Given the description of an element on the screen output the (x, y) to click on. 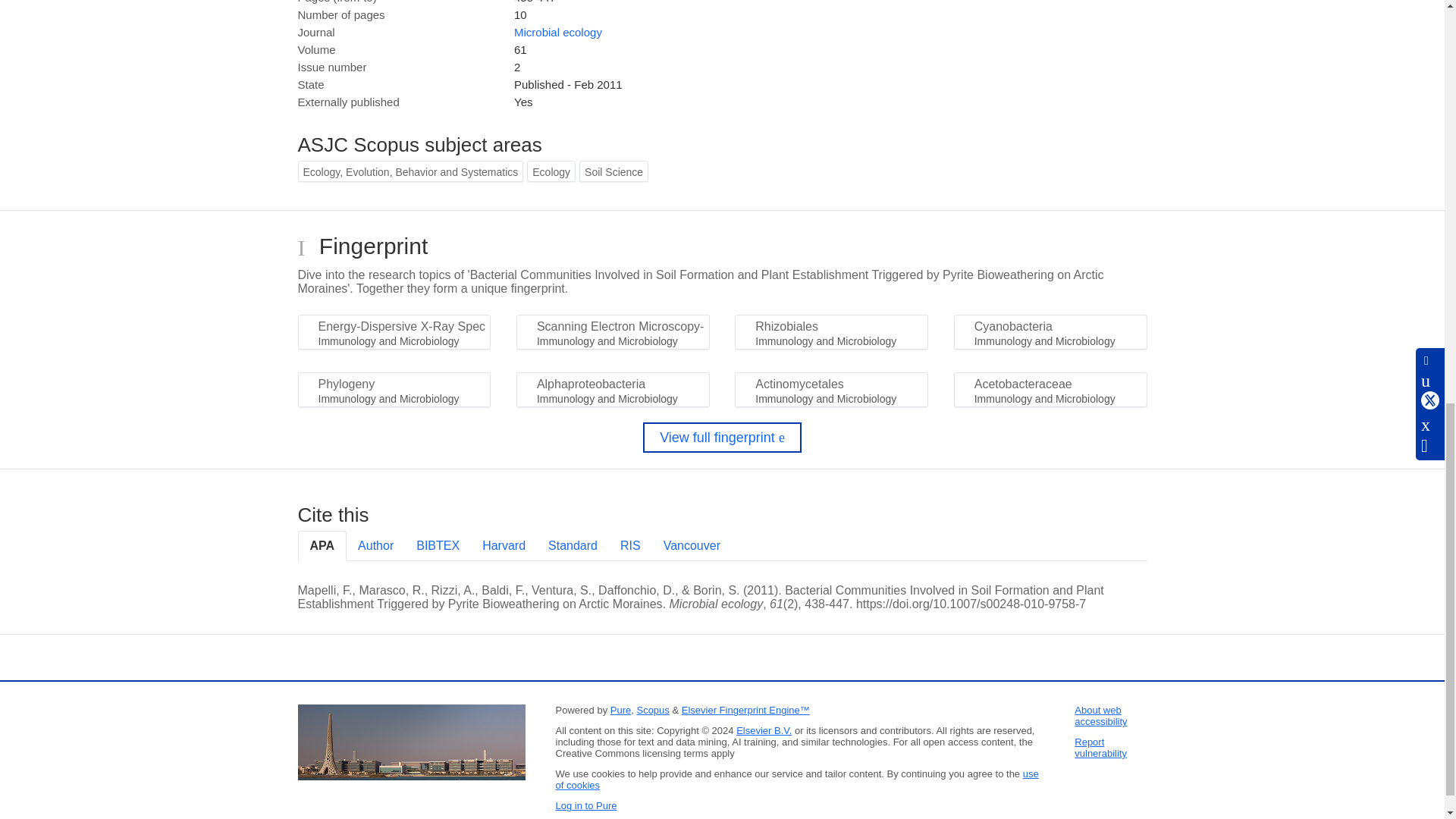
Scopus (652, 709)
View full fingerprint (722, 437)
Pure (620, 709)
Microbial ecology (557, 31)
